Given the description of an element on the screen output the (x, y) to click on. 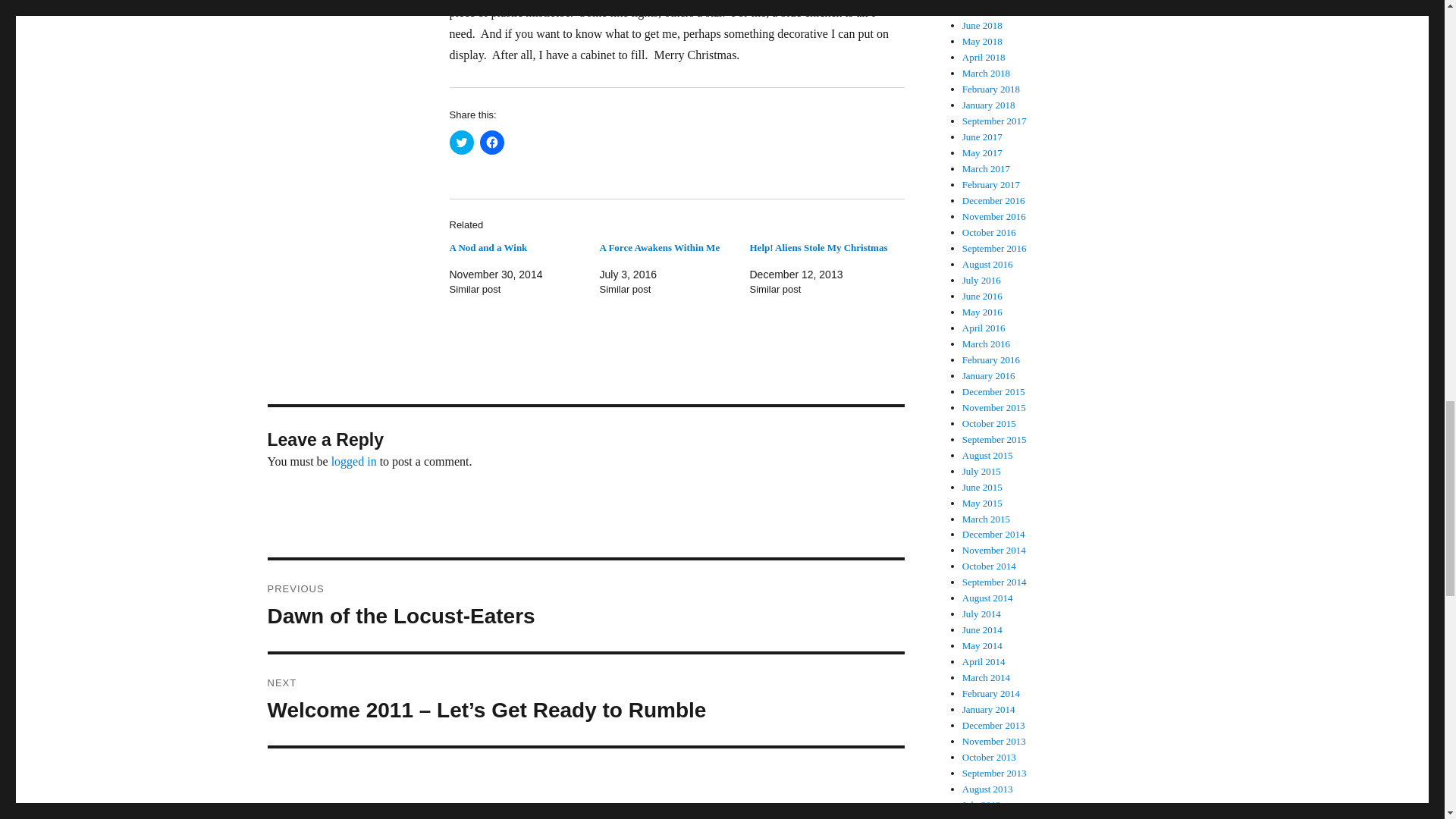
logged in (354, 461)
A Nod and a Wink (487, 247)
A Force Awakens Within Me (658, 247)
Click to share on Facebook (491, 142)
A Force Awakens Within Me (658, 247)
A Nod and a Wink (585, 605)
Click to share on Twitter (487, 247)
Help! Aliens Stole My Christmas (460, 142)
Help!  Aliens Stole My Christmas (817, 247)
